Given the description of an element on the screen output the (x, y) to click on. 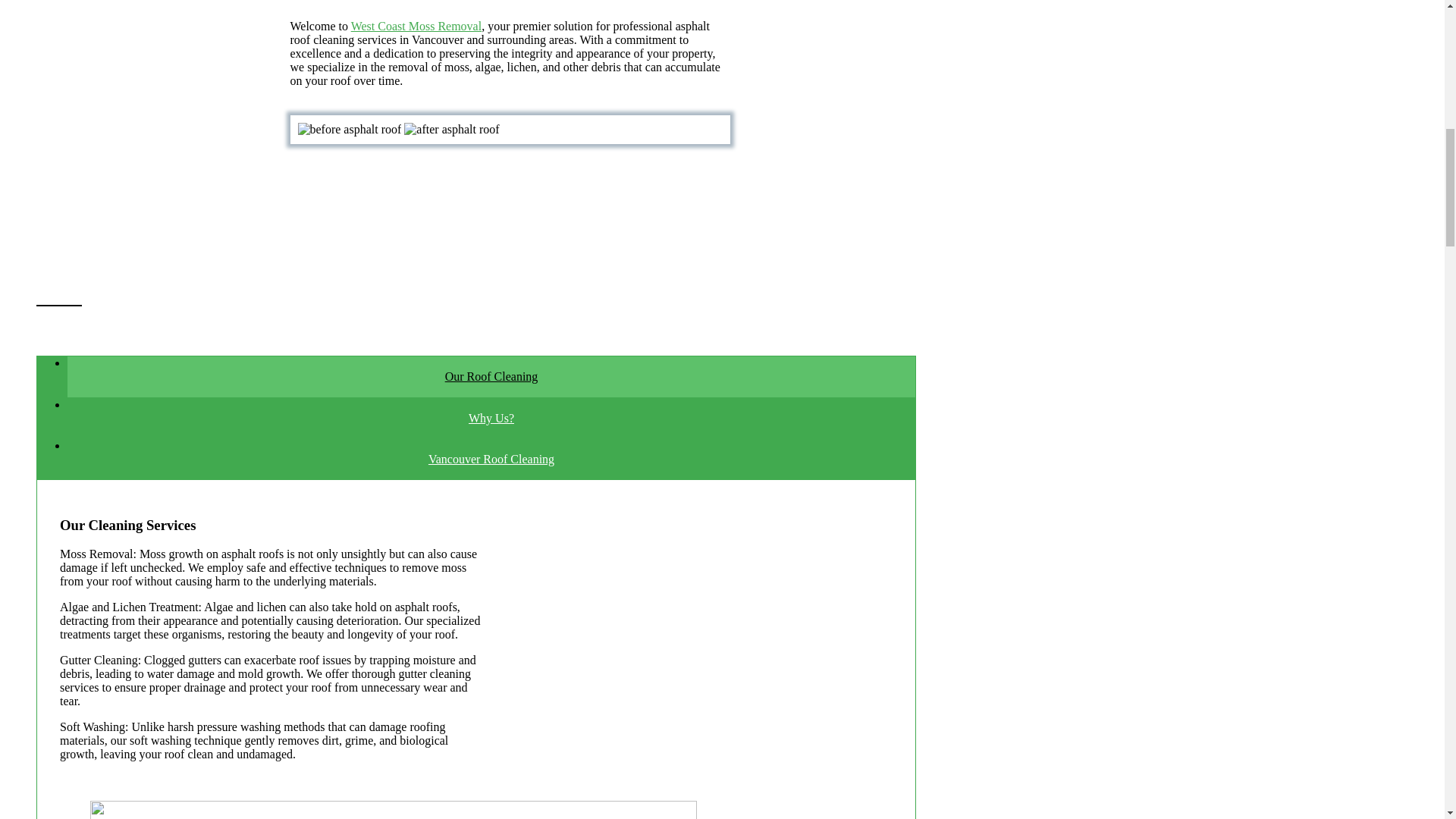
Vancouver Roof Cleaning (490, 459)
Our Roof Cleaning (490, 376)
Why Us? (490, 418)
West Coast Moss Removal (415, 25)
